Given the description of an element on the screen output the (x, y) to click on. 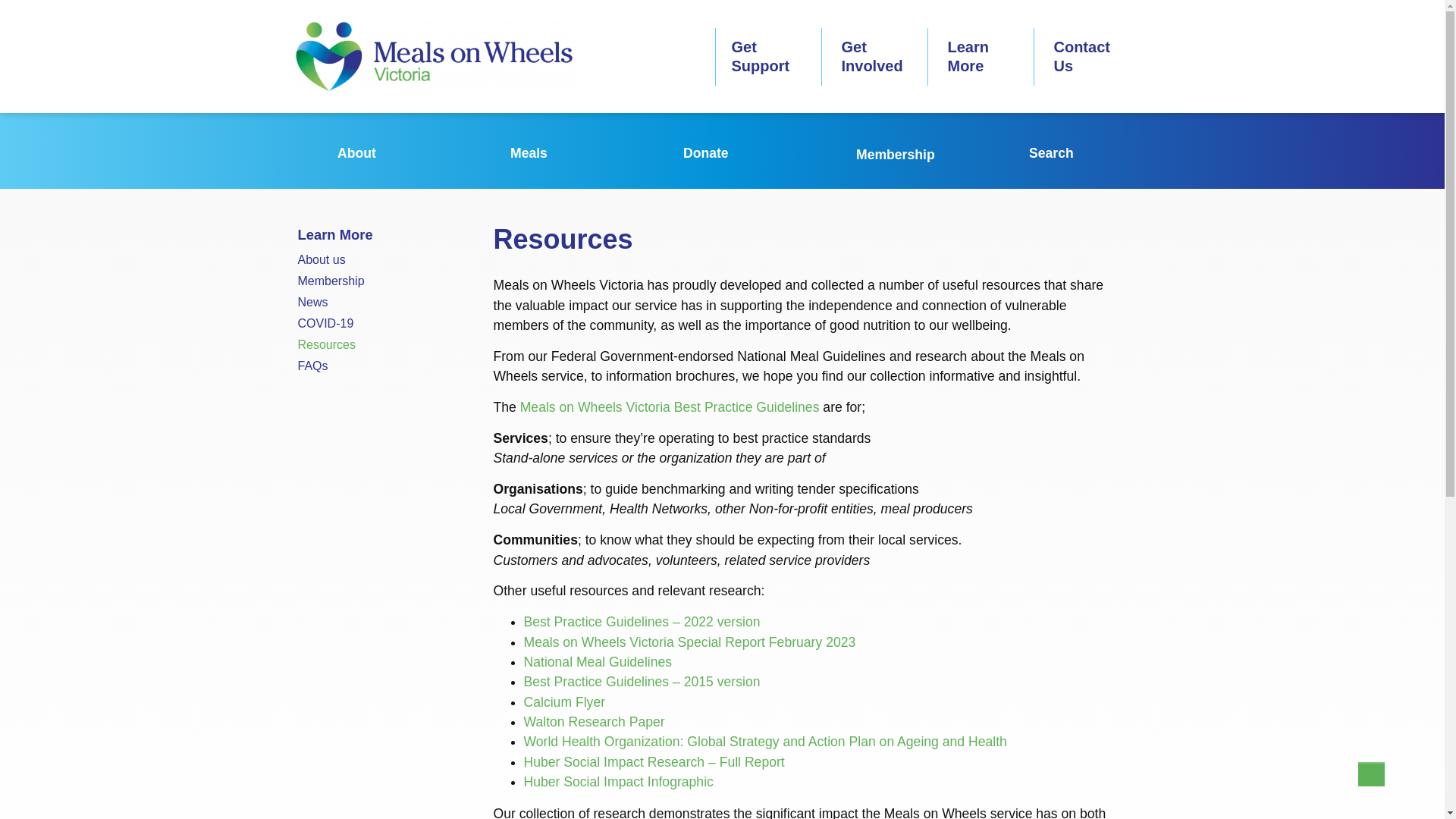
Learn More (970, 56)
Get Support (764, 56)
Get Involved (874, 56)
Contact Us (1081, 56)
